Given the description of an element on the screen output the (x, y) to click on. 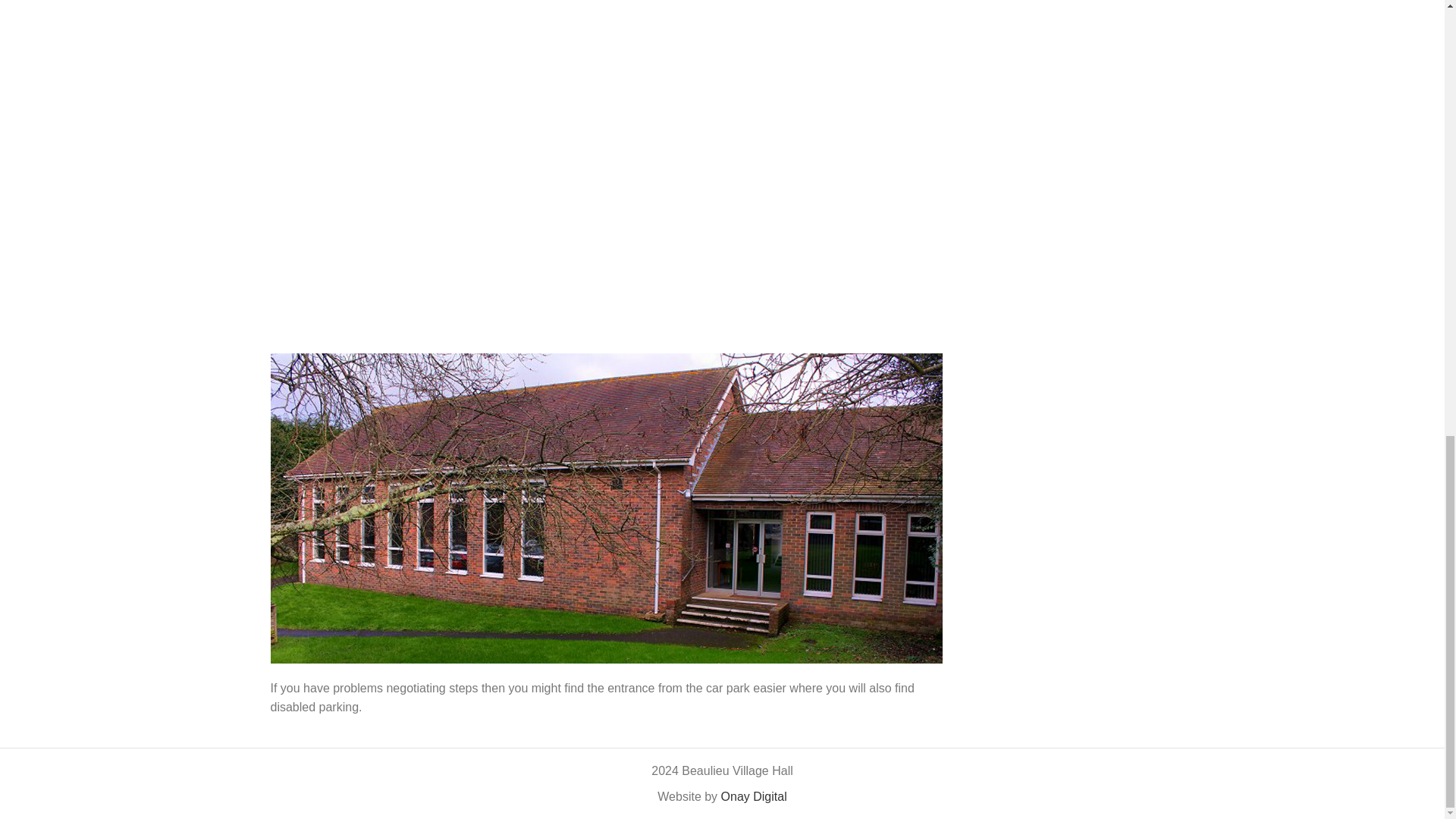
Onay Digital (753, 796)
